Given the description of an element on the screen output the (x, y) to click on. 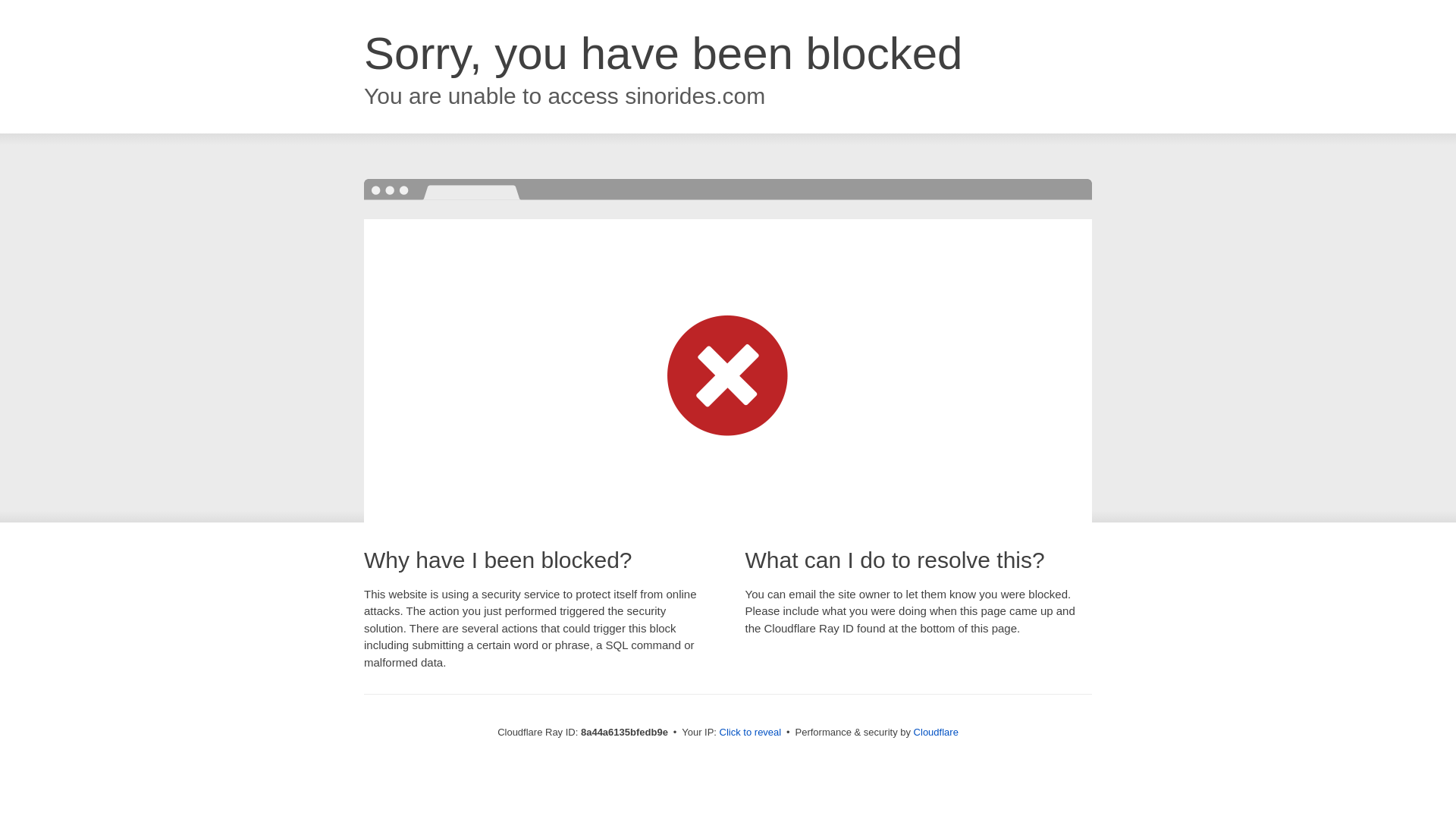
Click to reveal (750, 732)
Cloudflare (936, 731)
